Given the description of an element on the screen output the (x, y) to click on. 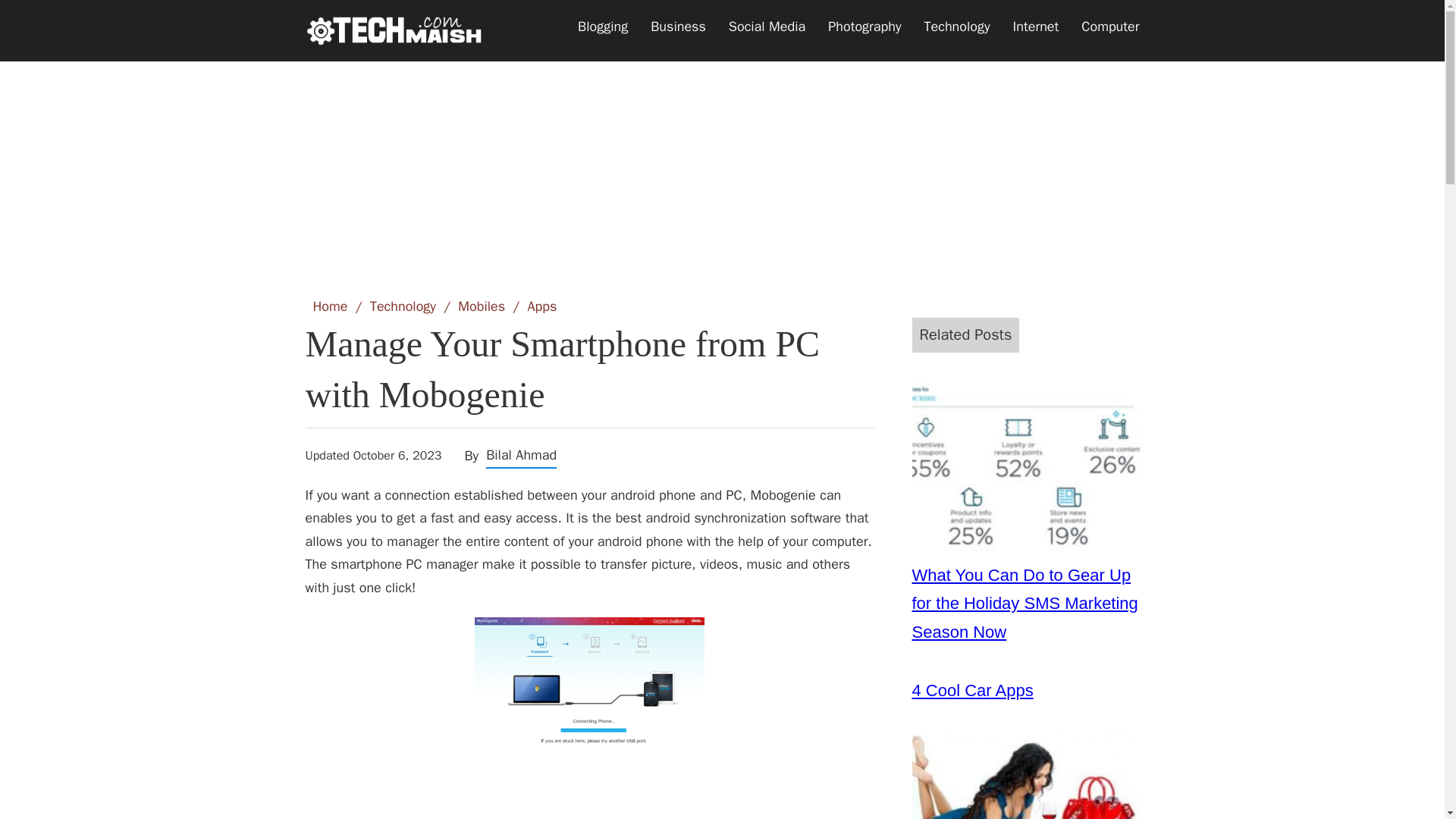
Social Media (767, 26)
Photography (864, 26)
Business (678, 26)
Technology (402, 306)
Advertisement (721, 159)
Computer (1109, 26)
Apps (541, 306)
Internet (1036, 26)
Blogging (602, 26)
Technology (957, 26)
Bilal Ahmad (521, 454)
Mobiles (481, 306)
Home (330, 306)
Advertisement (588, 792)
